Given the description of an element on the screen output the (x, y) to click on. 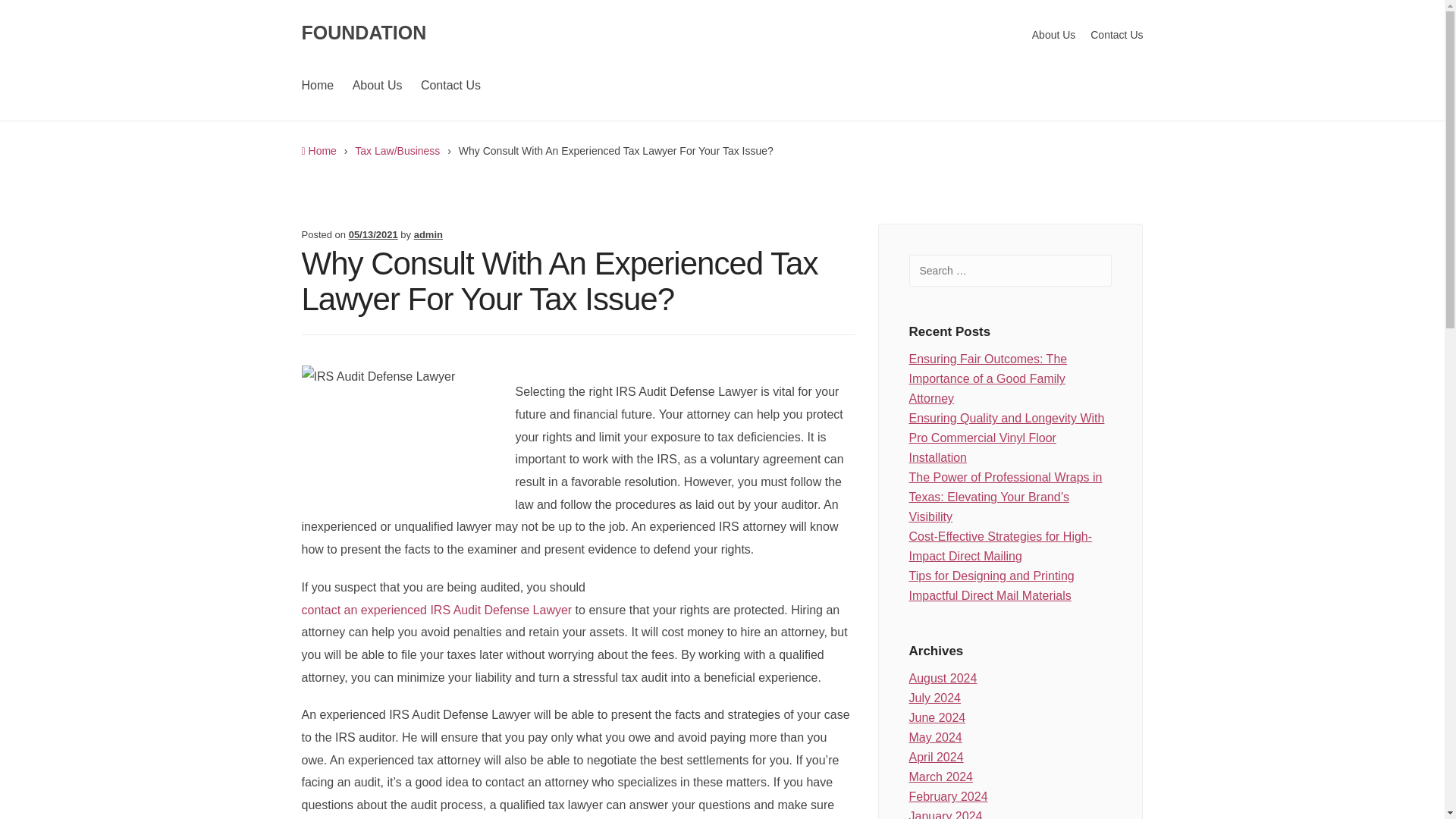
March 2024 (940, 777)
Search (37, 15)
About Us (377, 85)
January 2024 (944, 812)
July 2024 (934, 698)
Cost-Effective Strategies for High-Impact Direct Mailing (1010, 546)
contact an experienced IRS Audit Defense Lawyer (436, 609)
admin (427, 234)
Contact Us (1113, 34)
